Given the description of an element on the screen output the (x, y) to click on. 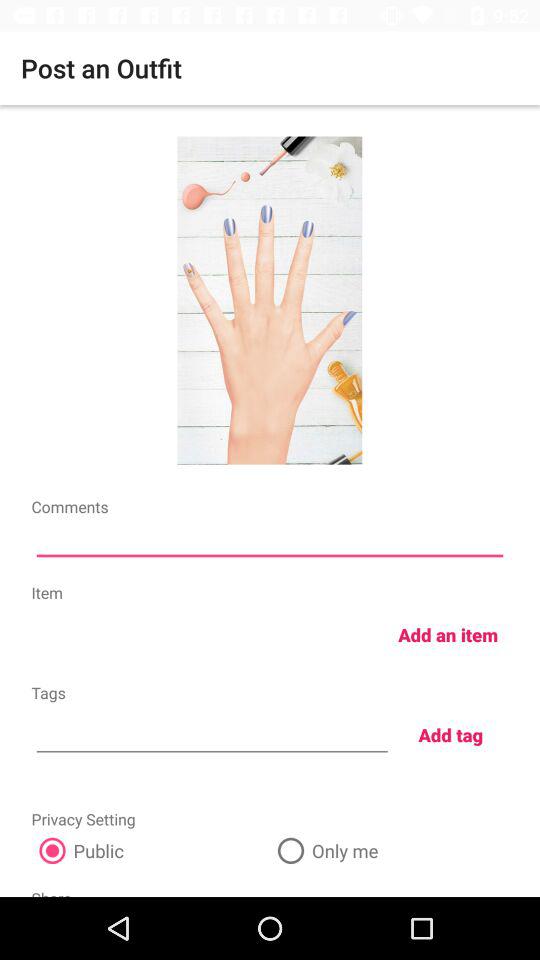
add tag (212, 732)
